Given the description of an element on the screen output the (x, y) to click on. 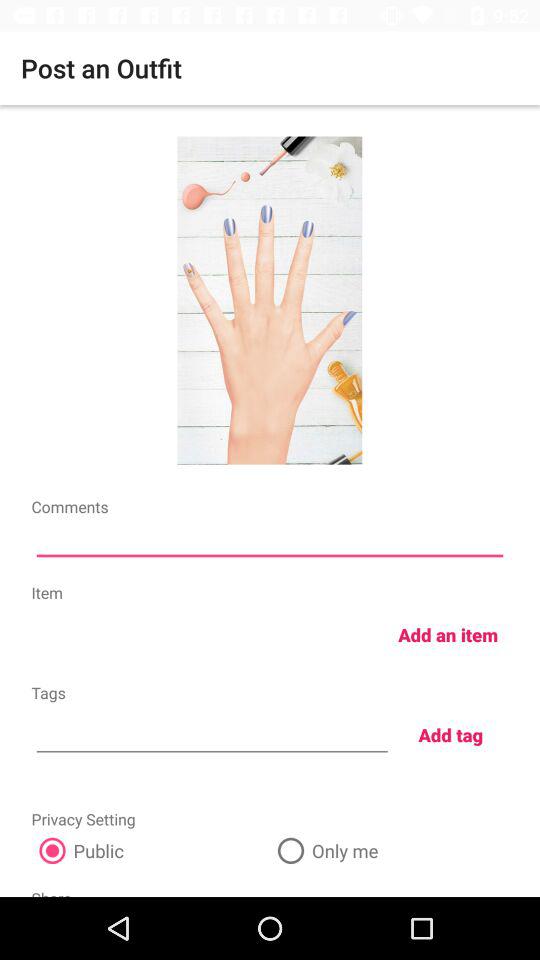
add tag (212, 732)
